Given the description of an element on the screen output the (x, y) to click on. 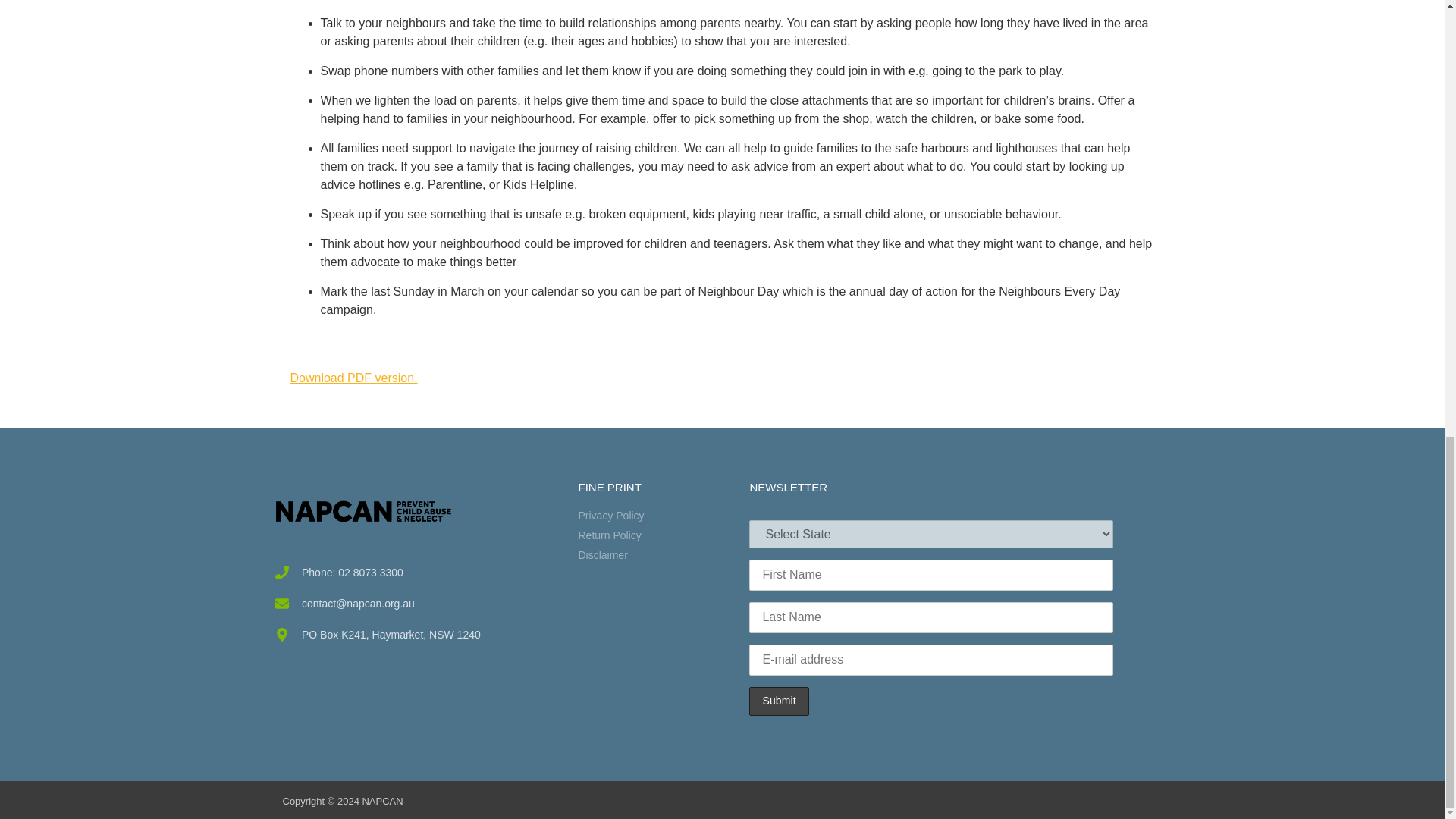
Submit (778, 701)
